Given the description of an element on the screen output the (x, y) to click on. 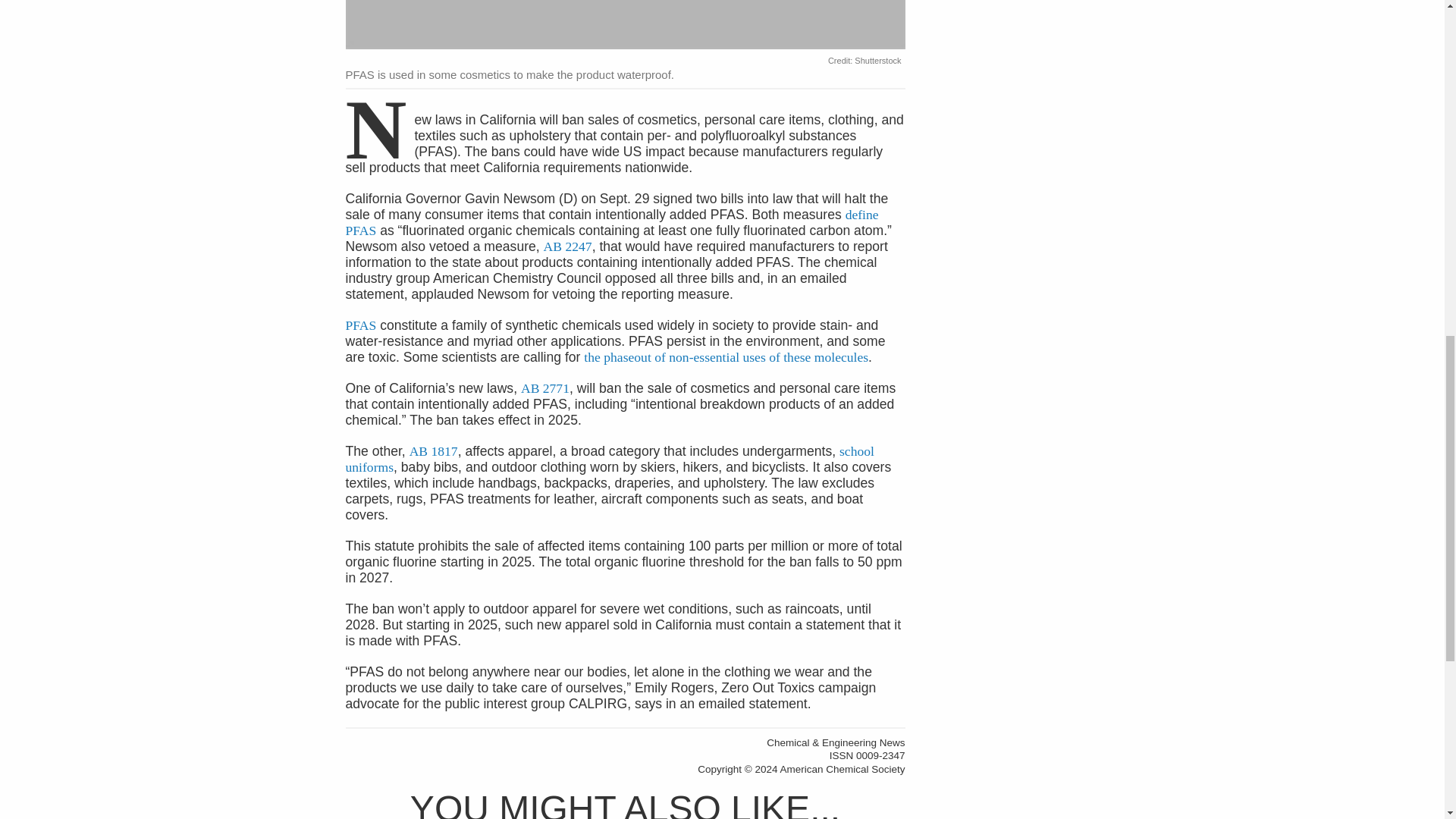
A guide to the PFAS found in our environment (361, 324)
Bill Text: CA AB2247 (567, 246)
How to say goodbye to PFAS (725, 356)
How to define PFAS (612, 222)
